Given the description of an element on the screen output the (x, y) to click on. 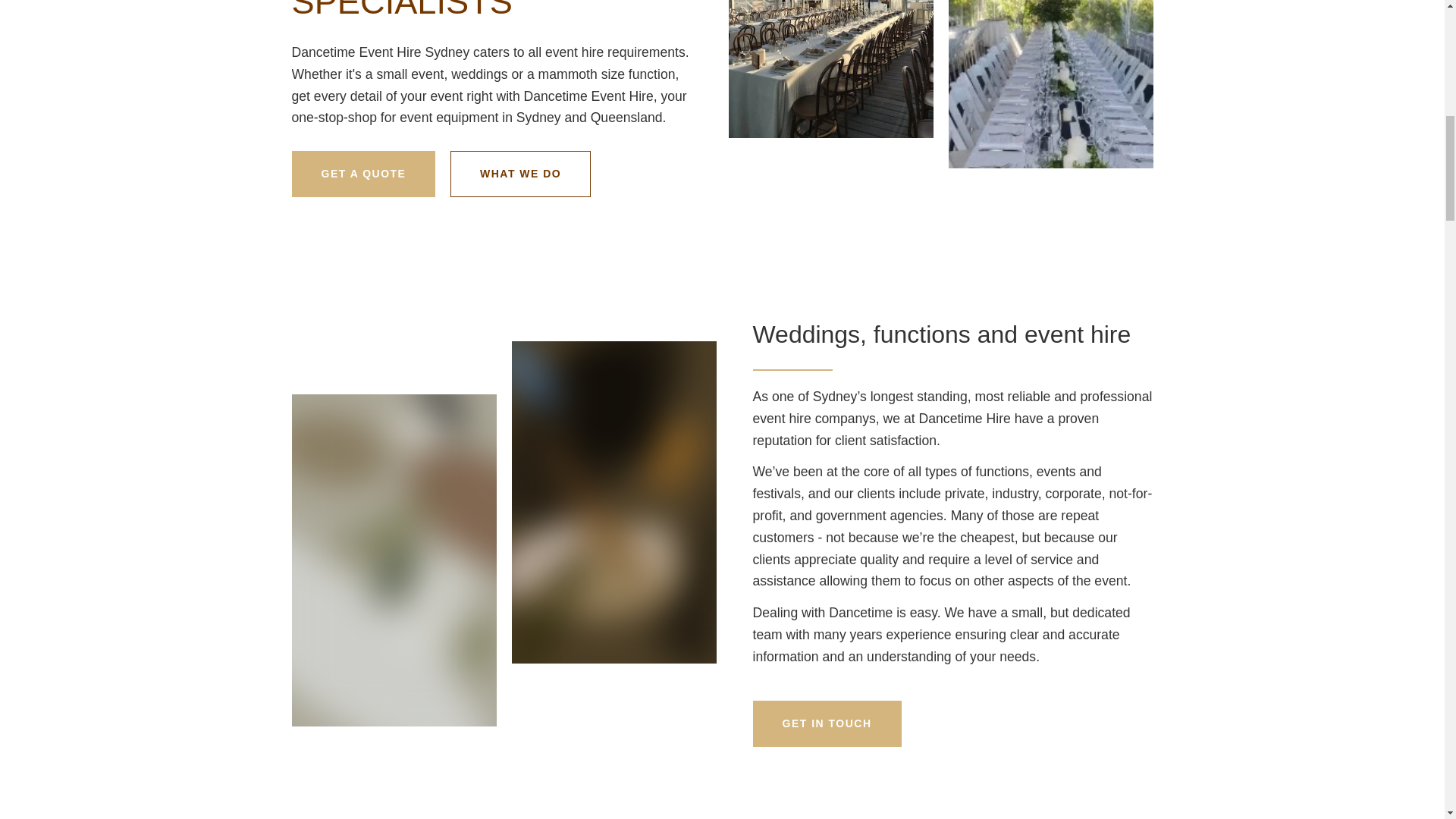
GET IN TOUCH (826, 723)
GET A QUOTE (363, 173)
WHAT WE DO (520, 173)
